Given the description of an element on the screen output the (x, y) to click on. 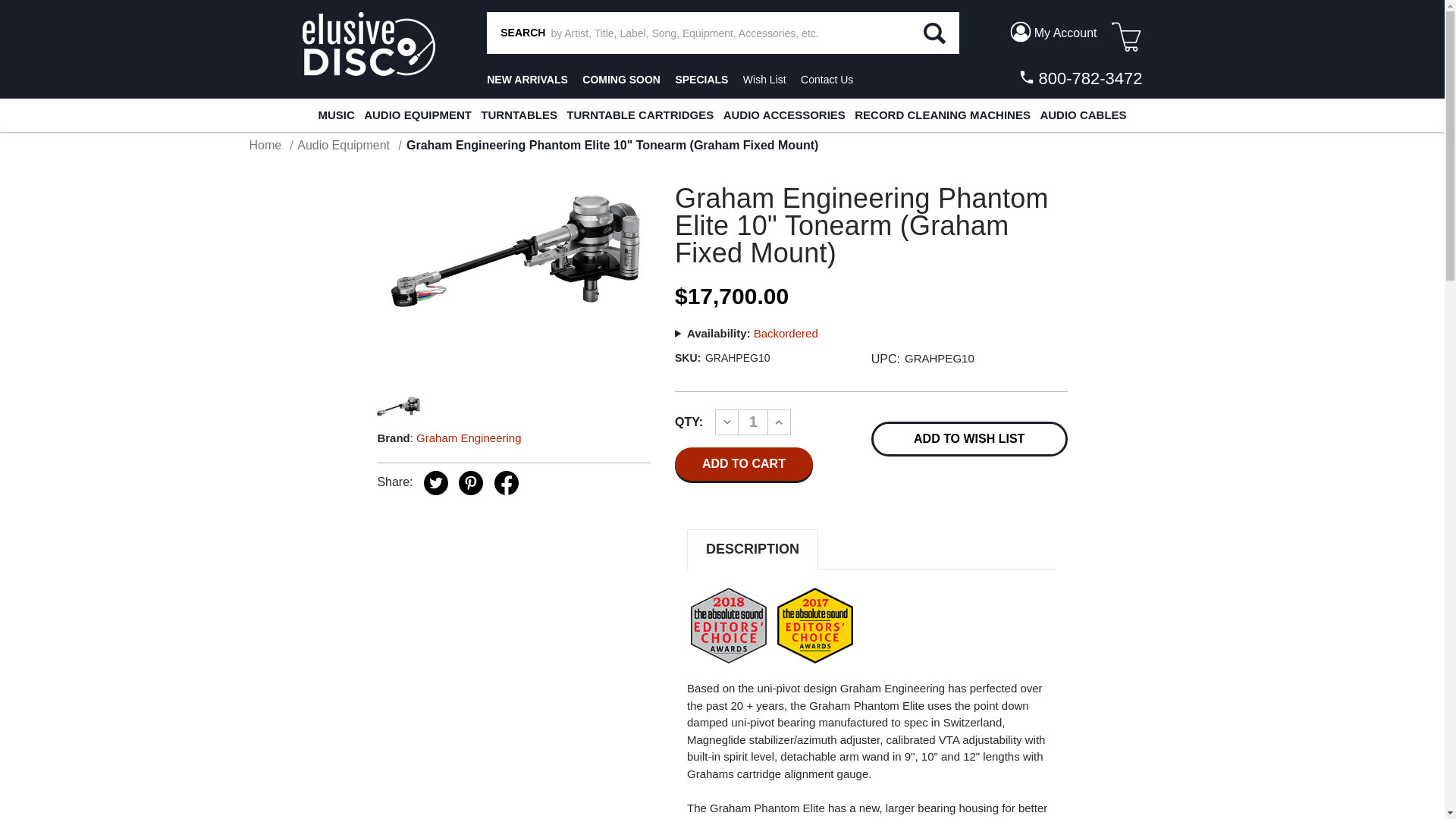
Contact Us (826, 79)
Wish List (764, 79)
Elusive Disc (367, 44)
NEW ARRIVALS (526, 79)
800-782-3472 (1077, 78)
Add to Cart (743, 463)
MUSIC (335, 114)
COMING SOON (621, 79)
SPECIALS (701, 79)
1 (753, 422)
  My Account (1052, 32)
